Given the description of an element on the screen output the (x, y) to click on. 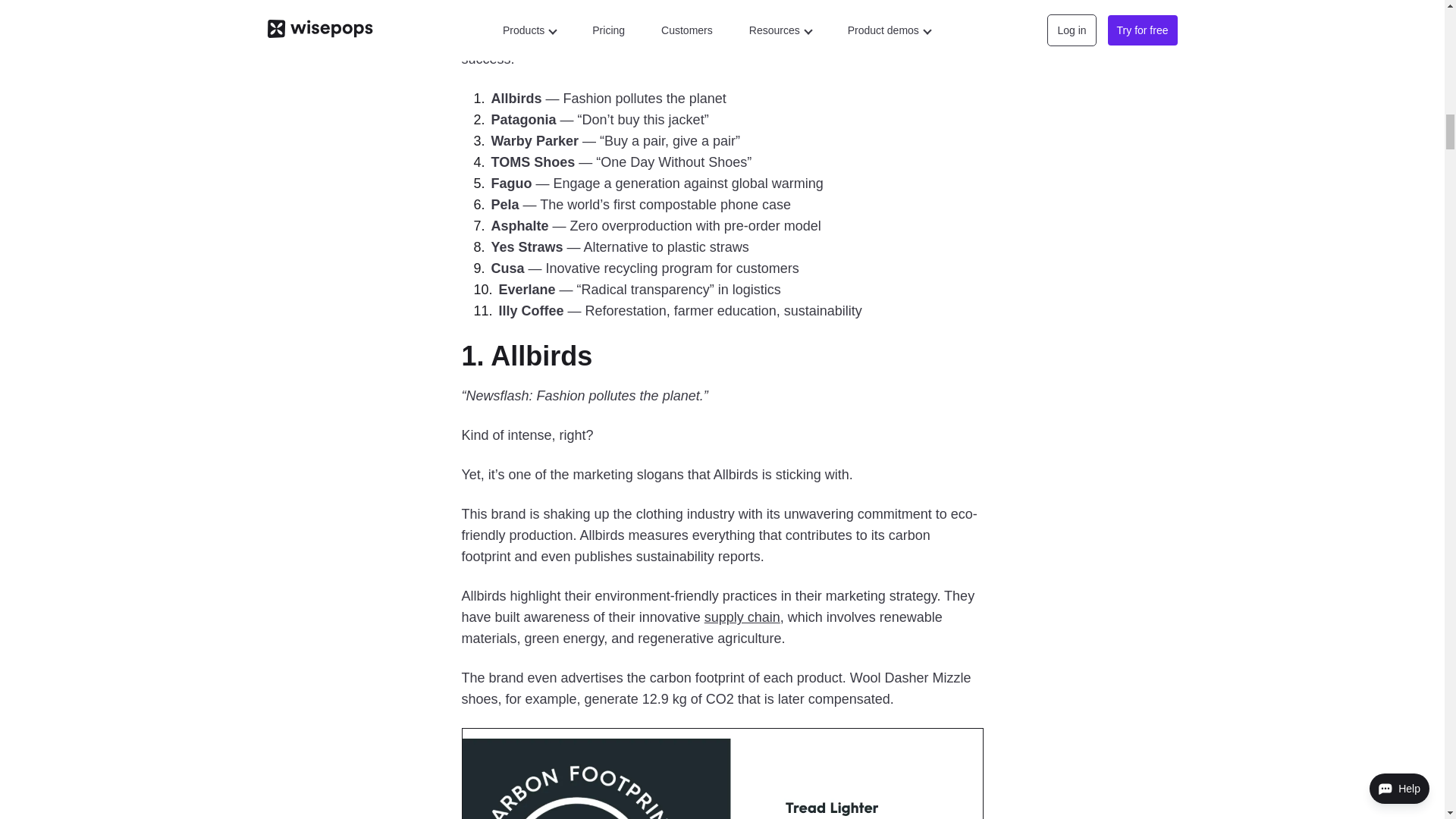
supply chain (742, 616)
Allbirds (541, 355)
